Given the description of an element on the screen output the (x, y) to click on. 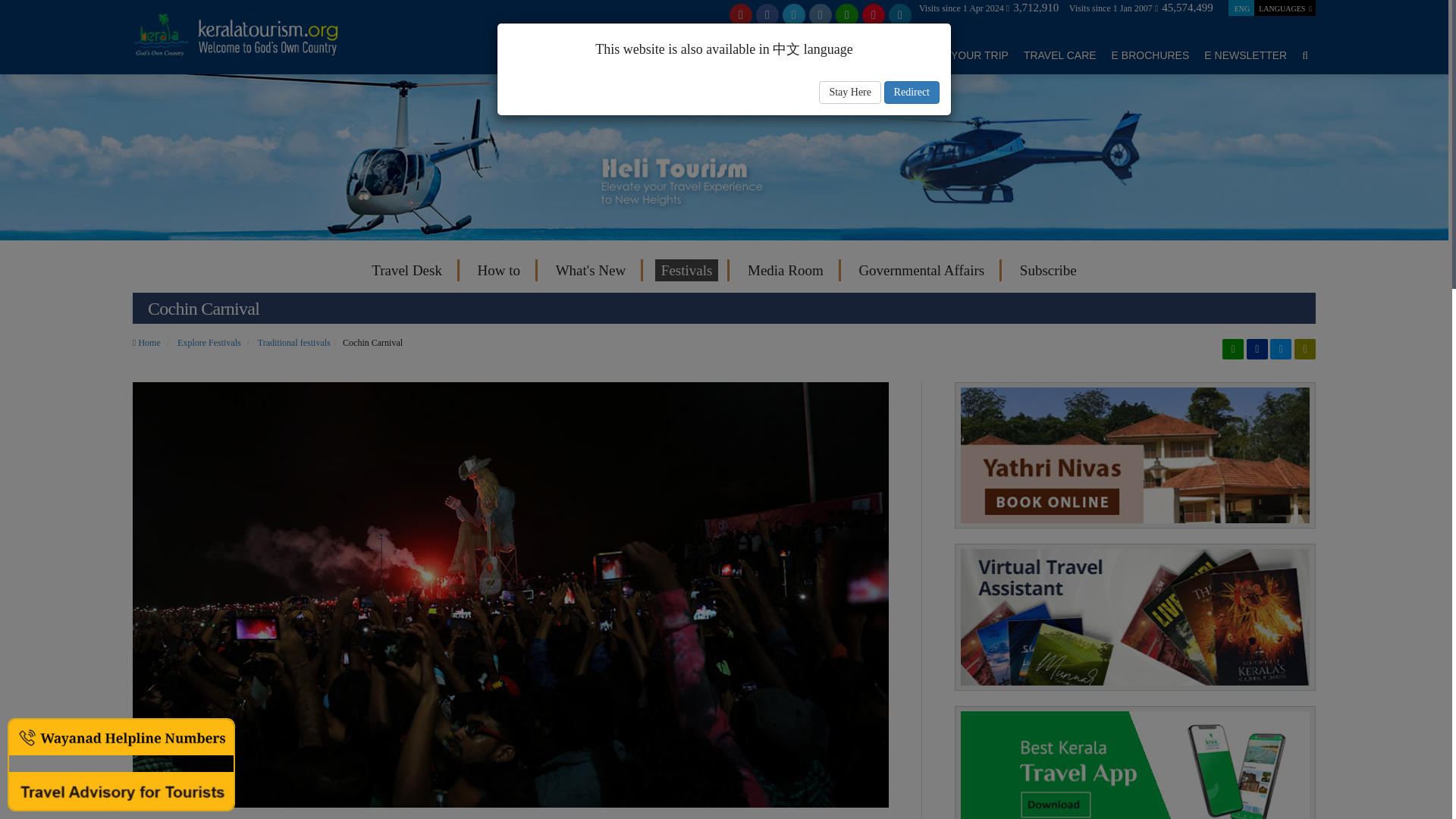
EXPERIENCE KERALA (564, 55)
How to (498, 270)
WHERE TO STAY (770, 55)
Yathrinivas Online Booking (1134, 455)
TRAVEL CARE (1059, 55)
Festivals (687, 270)
Stay Here (849, 92)
Governmental Affairs (920, 270)
THINGS TO DO (866, 55)
E NEWSLETTER (1245, 55)
E Brochures (1134, 616)
WHERE TO GO (674, 55)
Home (146, 342)
E BROCHURES (1150, 55)
Redirect (911, 92)
